Given the description of an element on the screen output the (x, y) to click on. 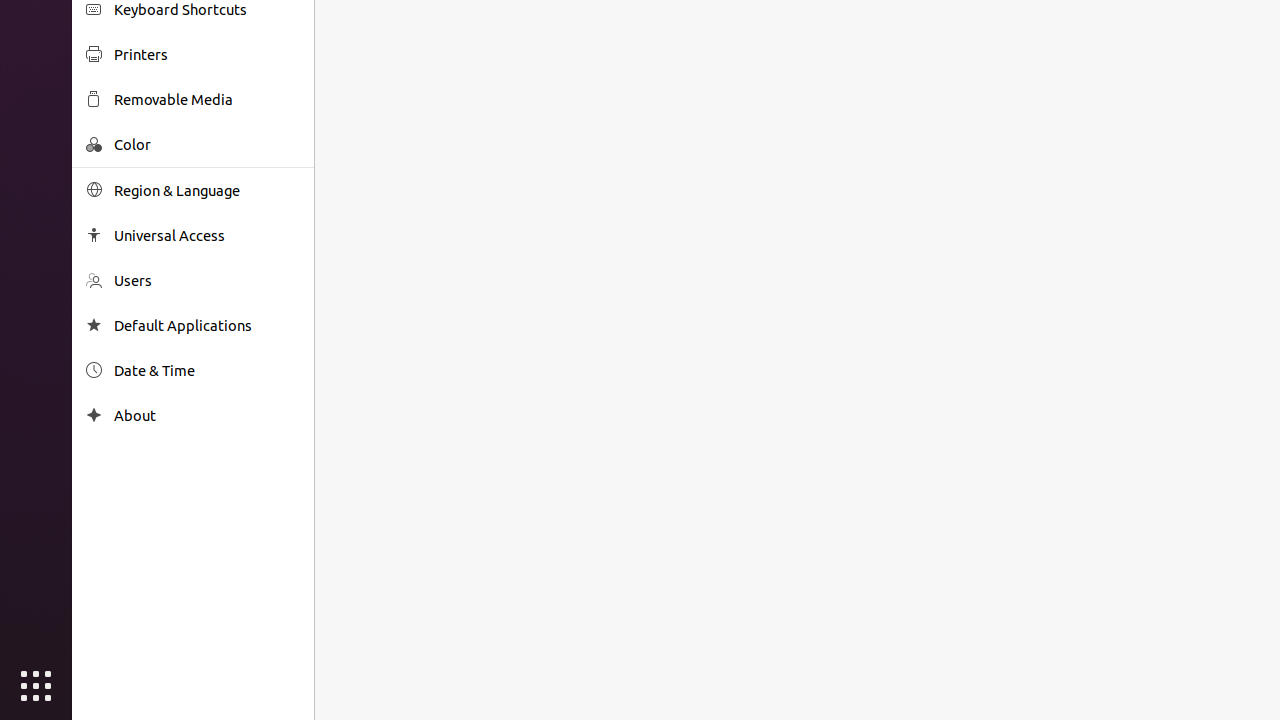
Color Element type: label (207, 144)
Printers Element type: label (207, 54)
